Given the description of an element on the screen output the (x, y) to click on. 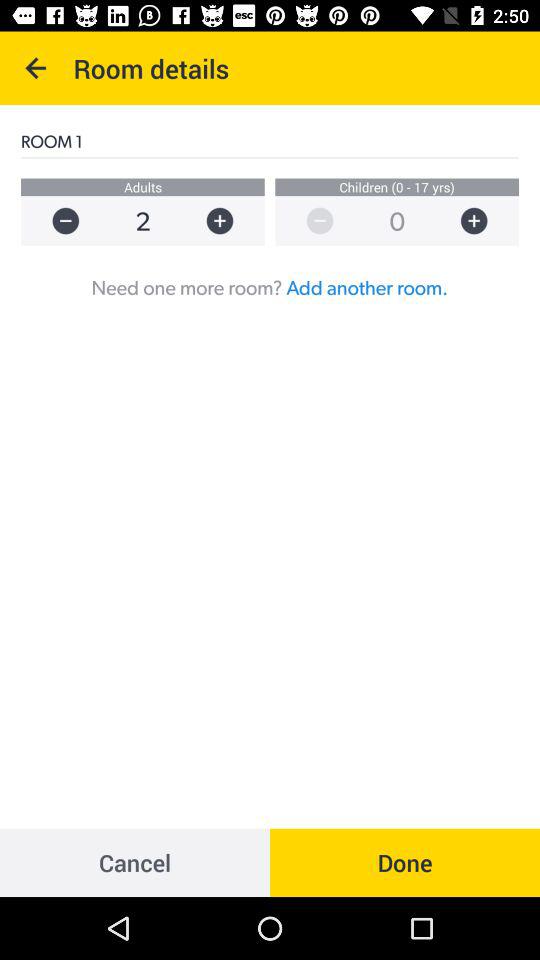
select the item to the left of the done item (135, 862)
